Given the description of an element on the screen output the (x, y) to click on. 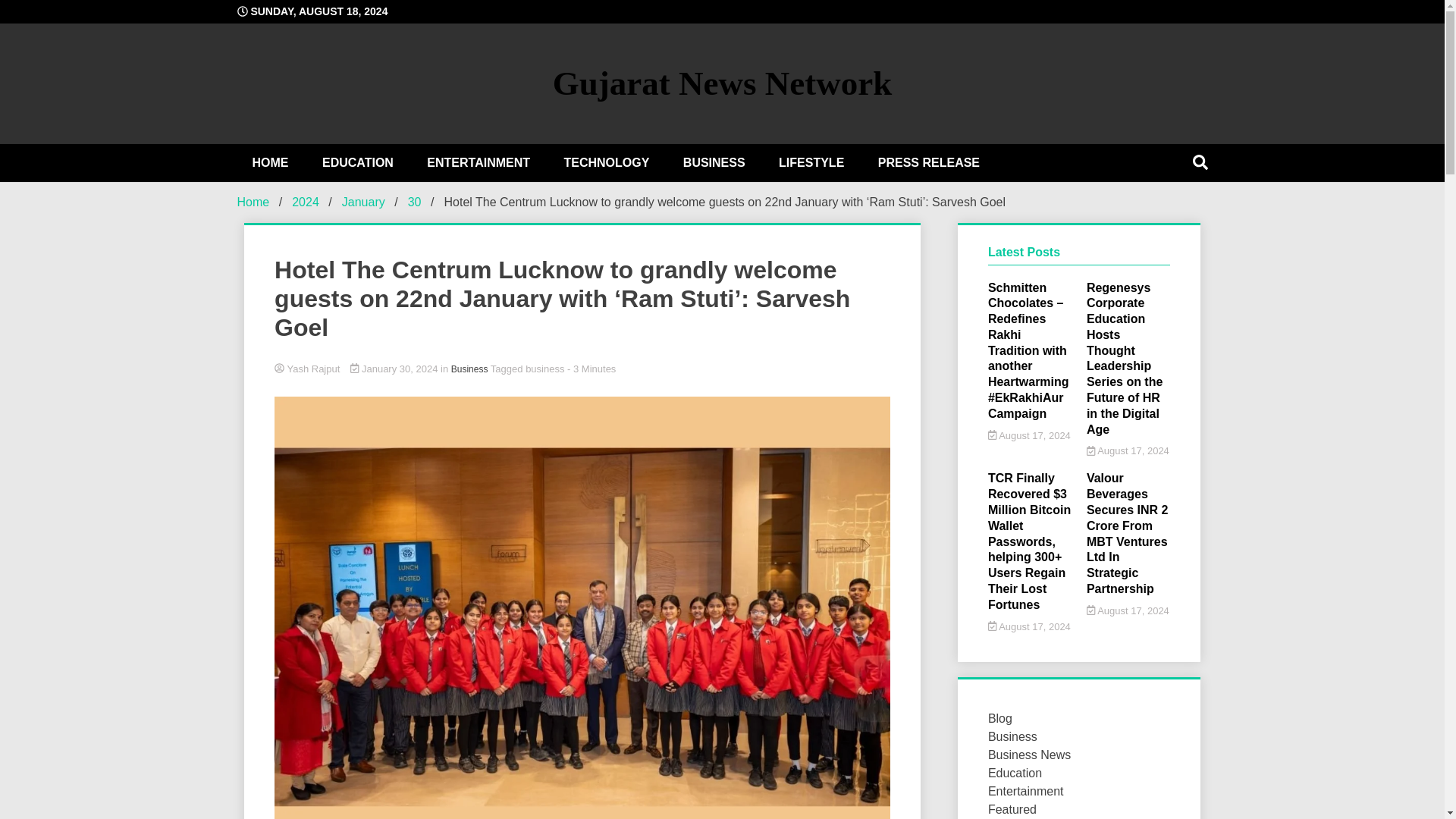
ENTERTAINMENT (478, 162)
Yash Rajput (582, 369)
TECHNOLOGY (605, 162)
Estimated Reading Time of Article (591, 368)
January 30, 2024 (395, 368)
BUSINESS (714, 162)
HOME (268, 162)
EDUCATION (358, 162)
January (363, 201)
